Given the description of an element on the screen output the (x, y) to click on. 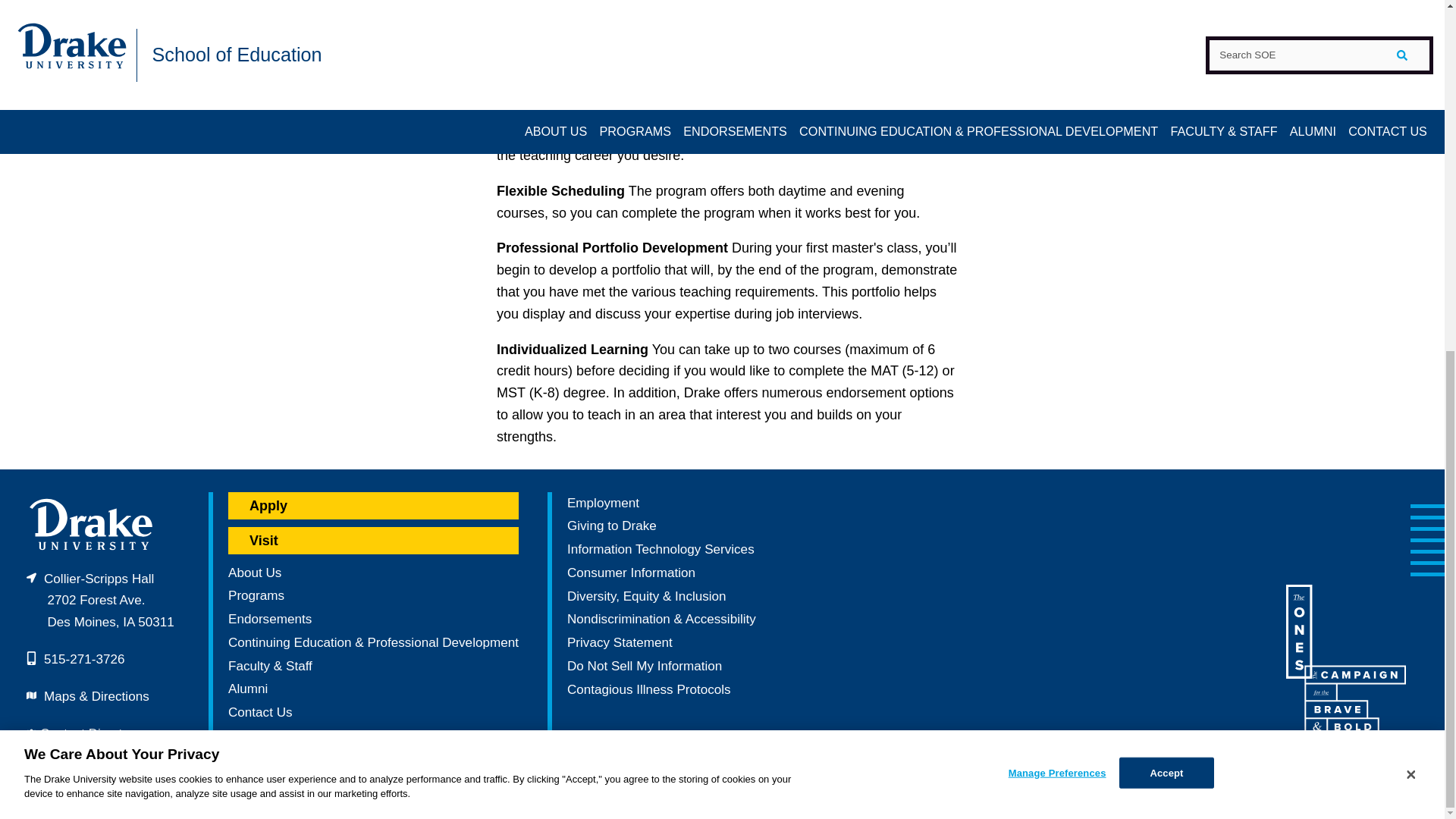
Contact Directory (89, 733)
2702 Forest Ave (100, 600)
Make a financial contribution to Drake University (611, 525)
Public Safety (81, 769)
